Given the description of an element on the screen output the (x, y) to click on. 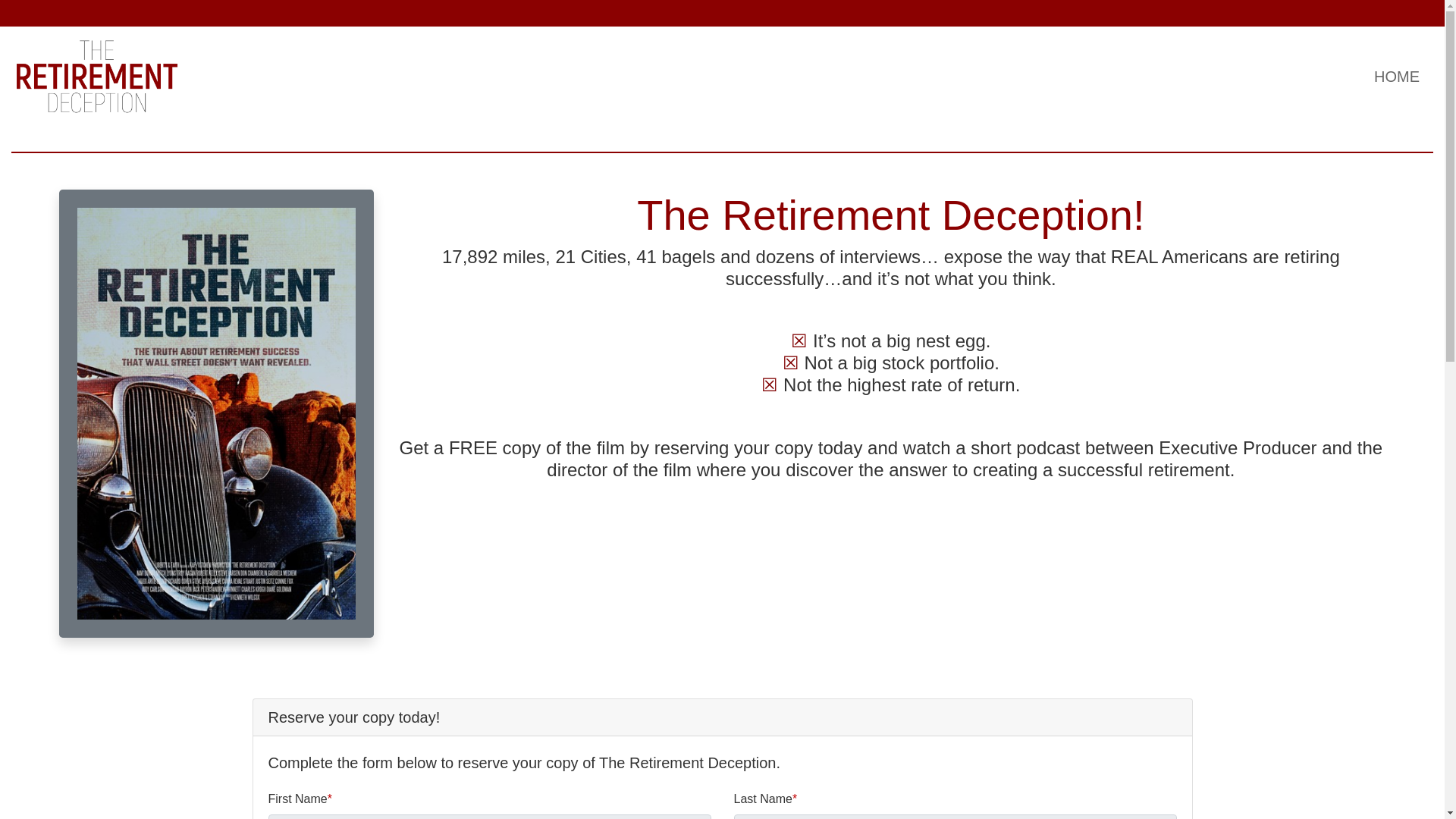
The Retirement Deception (97, 74)
HOME (1396, 76)
